Given the description of an element on the screen output the (x, y) to click on. 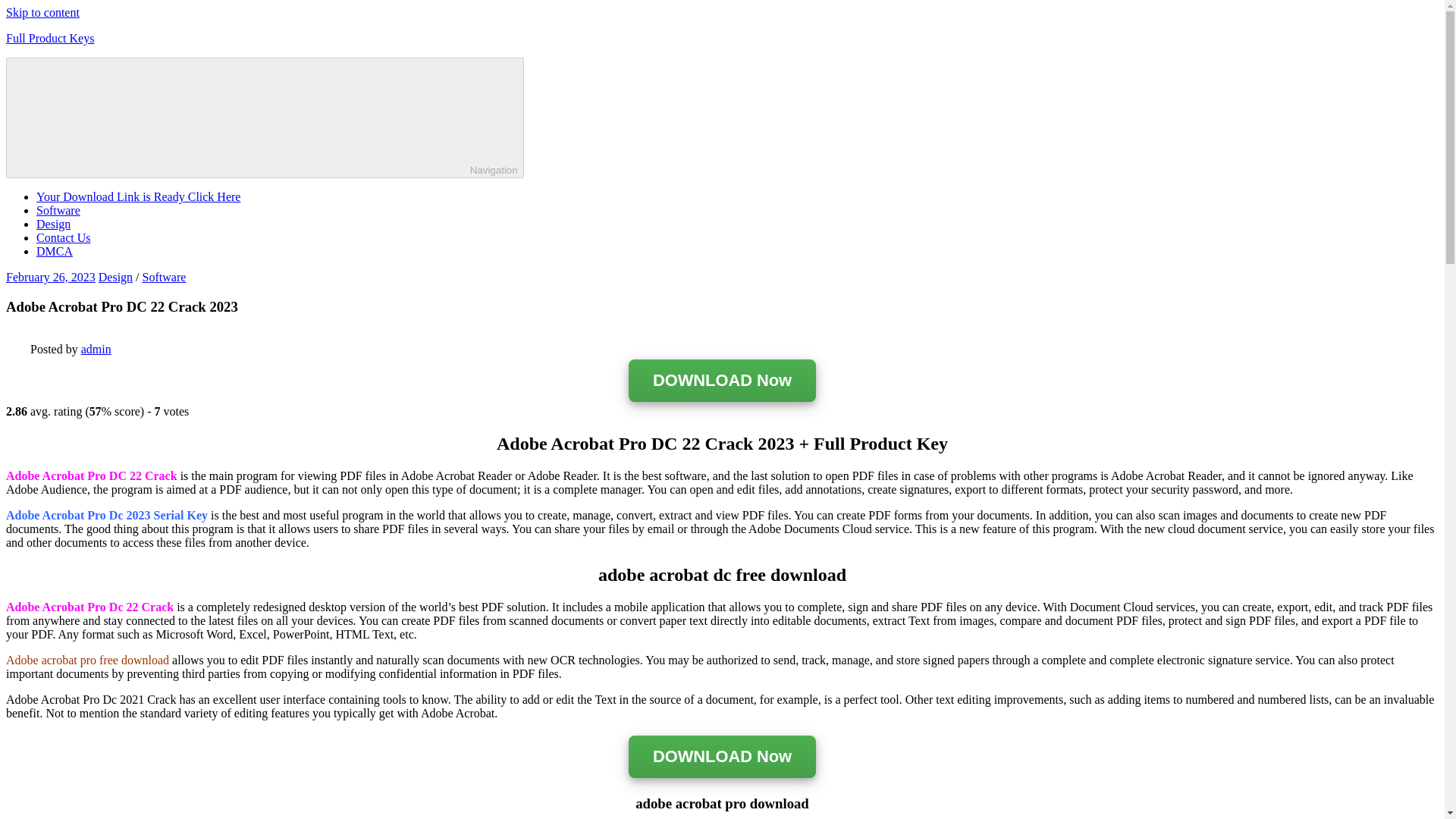
Software (164, 277)
Navigation (264, 117)
DOWNLOAD Now (721, 380)
Contact Us (63, 237)
View all posts by admin (96, 349)
Full Product Keys (49, 38)
5:24 am (50, 277)
DOWNLOAD Now (721, 757)
Design (52, 223)
DMCA (54, 250)
